Given the description of an element on the screen output the (x, y) to click on. 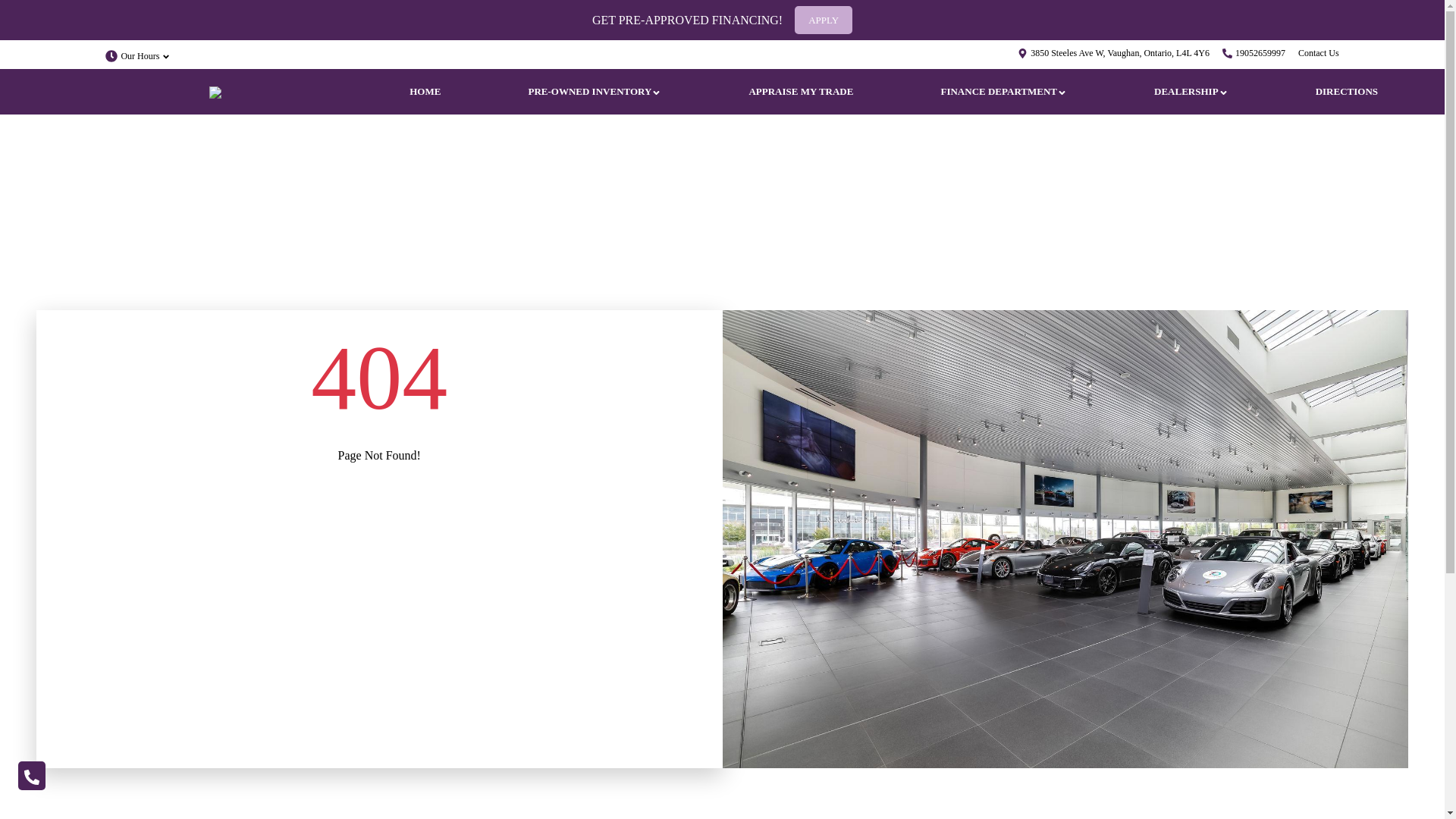
APPRAISE MY TRADE Element type: text (800, 91)
19052659997 Element type: text (1260, 52)
HOME Element type: text (424, 91)
Contact Us Element type: text (1318, 52)
DIRECTIONS Element type: text (1346, 91)
APPLY Element type: text (823, 20)
FINANCE DEPARTMENT Element type: text (1003, 91)
PRE-OWNED INVENTORY Element type: text (594, 91)
DEALERSHIP Element type: text (1191, 91)
3850 Steeles Ave W, Vaughan, Ontario, L4L 4Y6 Element type: text (1119, 52)
